Given the description of an element on the screen output the (x, y) to click on. 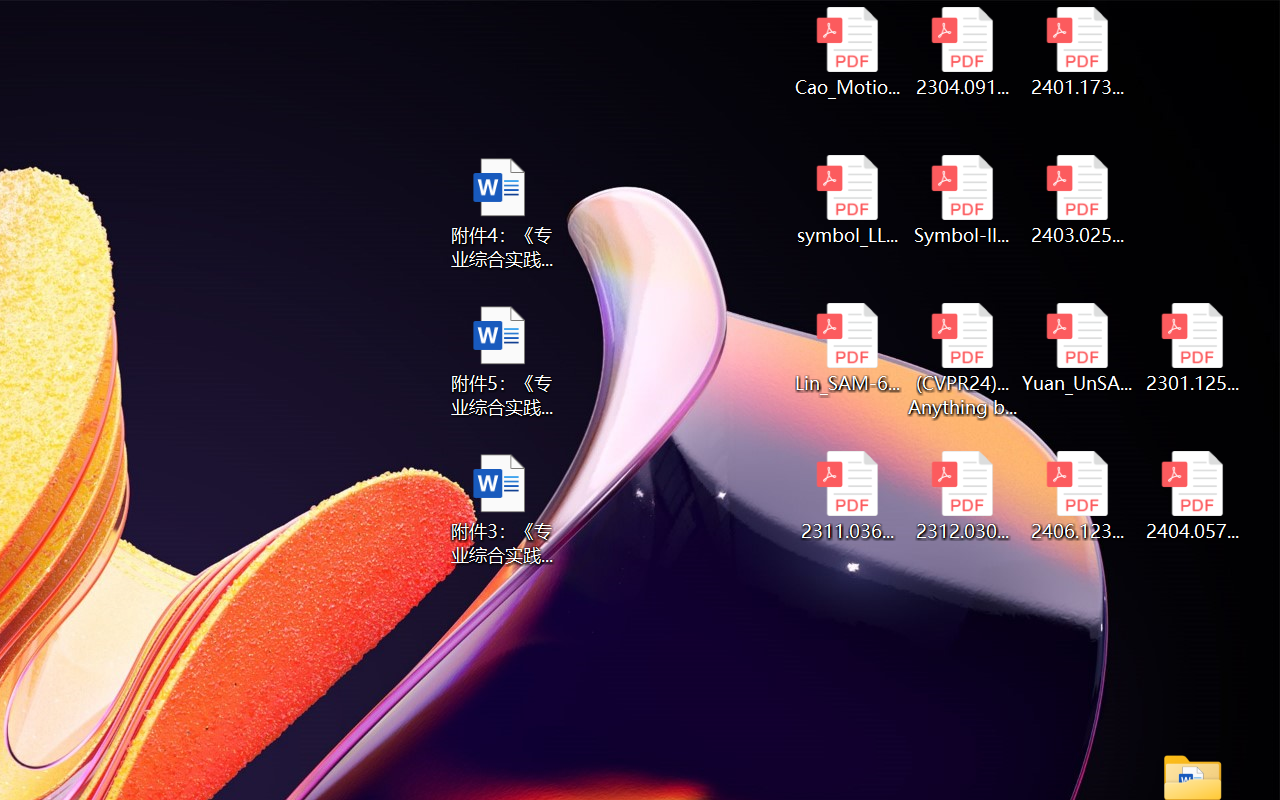
Symbol-llm-v2.pdf (962, 200)
2404.05719v1.pdf (1192, 496)
